Given the description of an element on the screen output the (x, y) to click on. 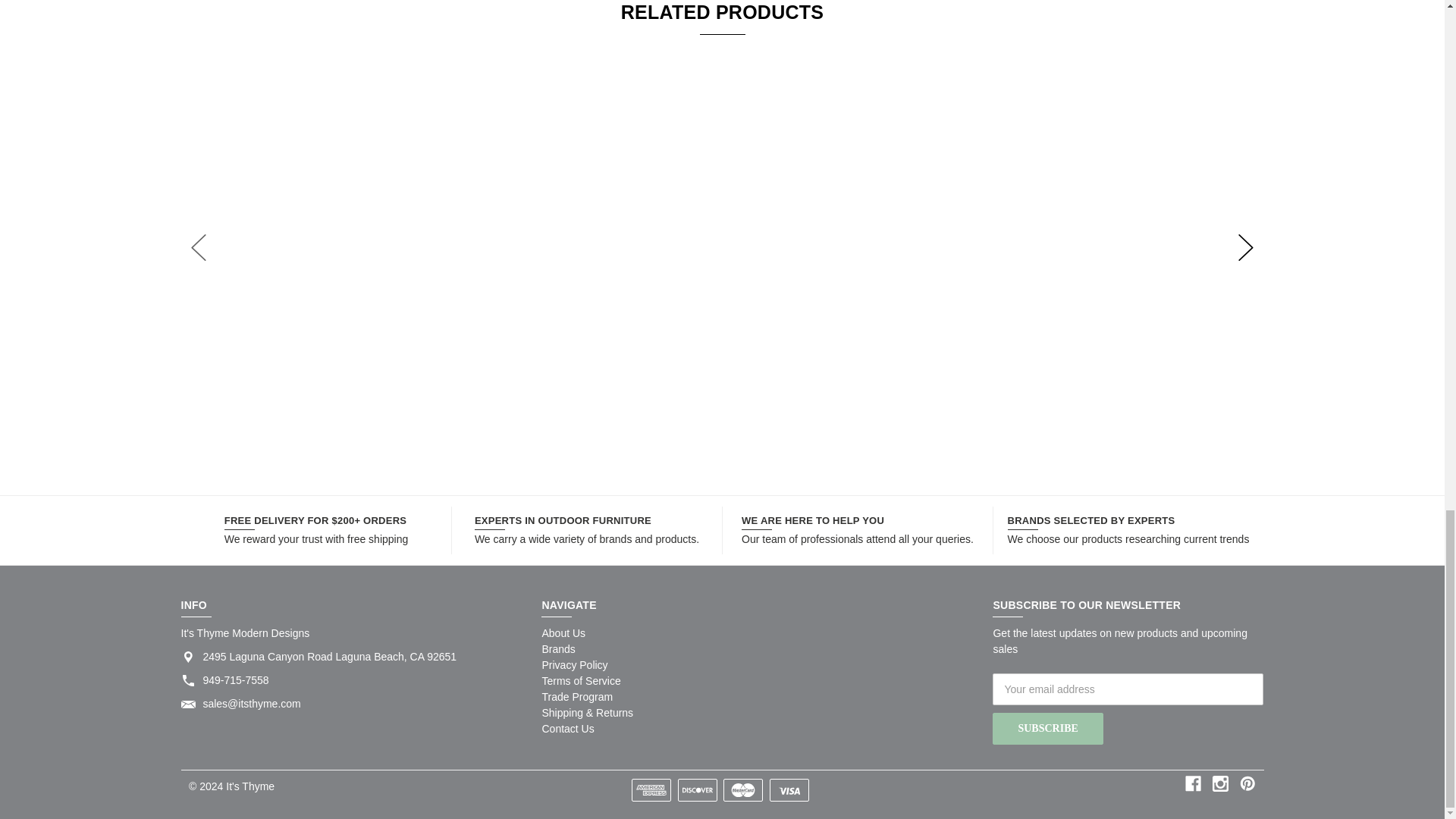
Subscribe (1047, 728)
